Given the description of an element on the screen output the (x, y) to click on. 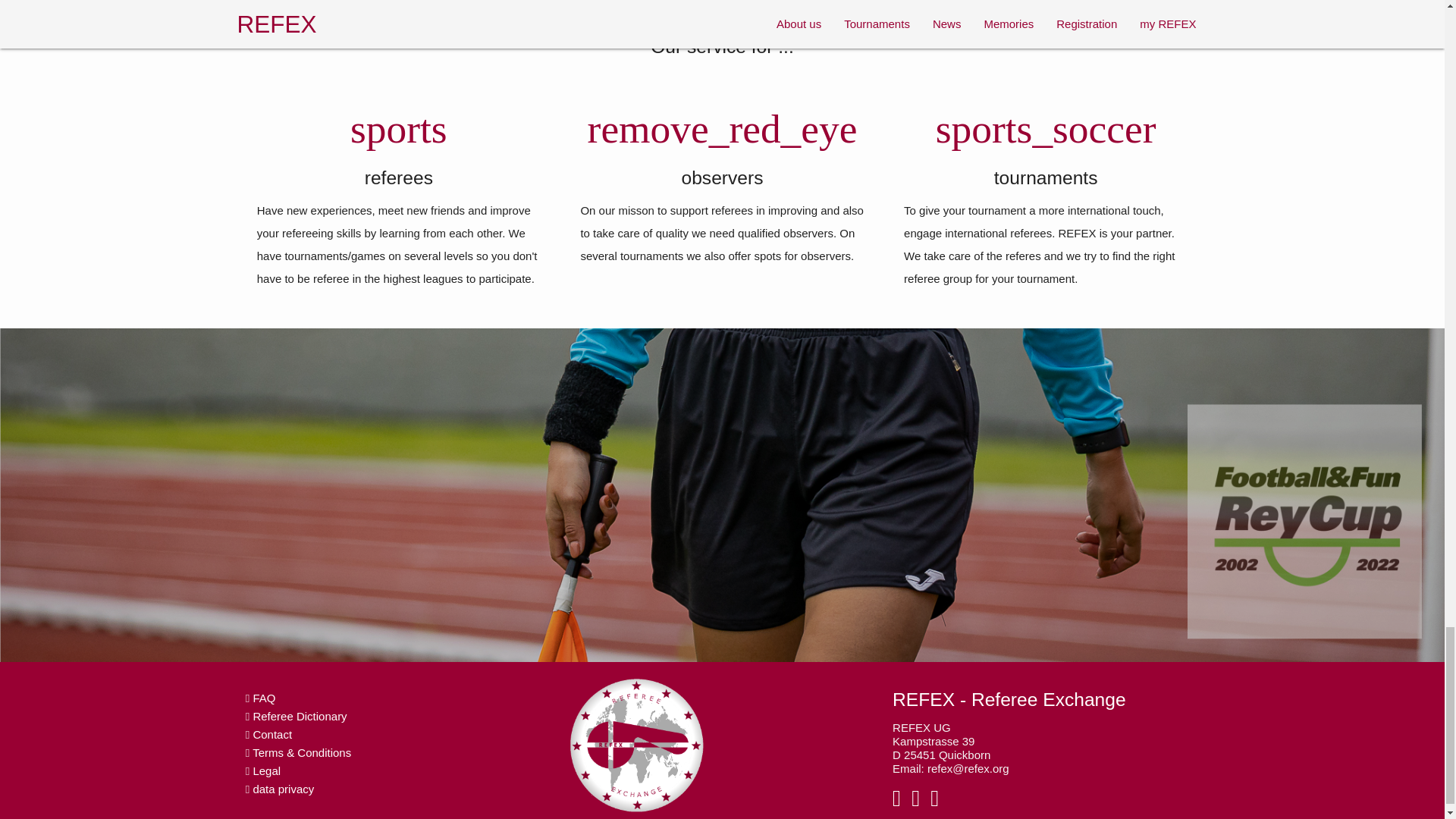
Referee Dictionary (296, 716)
FAQ (261, 697)
Contact (269, 734)
